Given the description of an element on the screen output the (x, y) to click on. 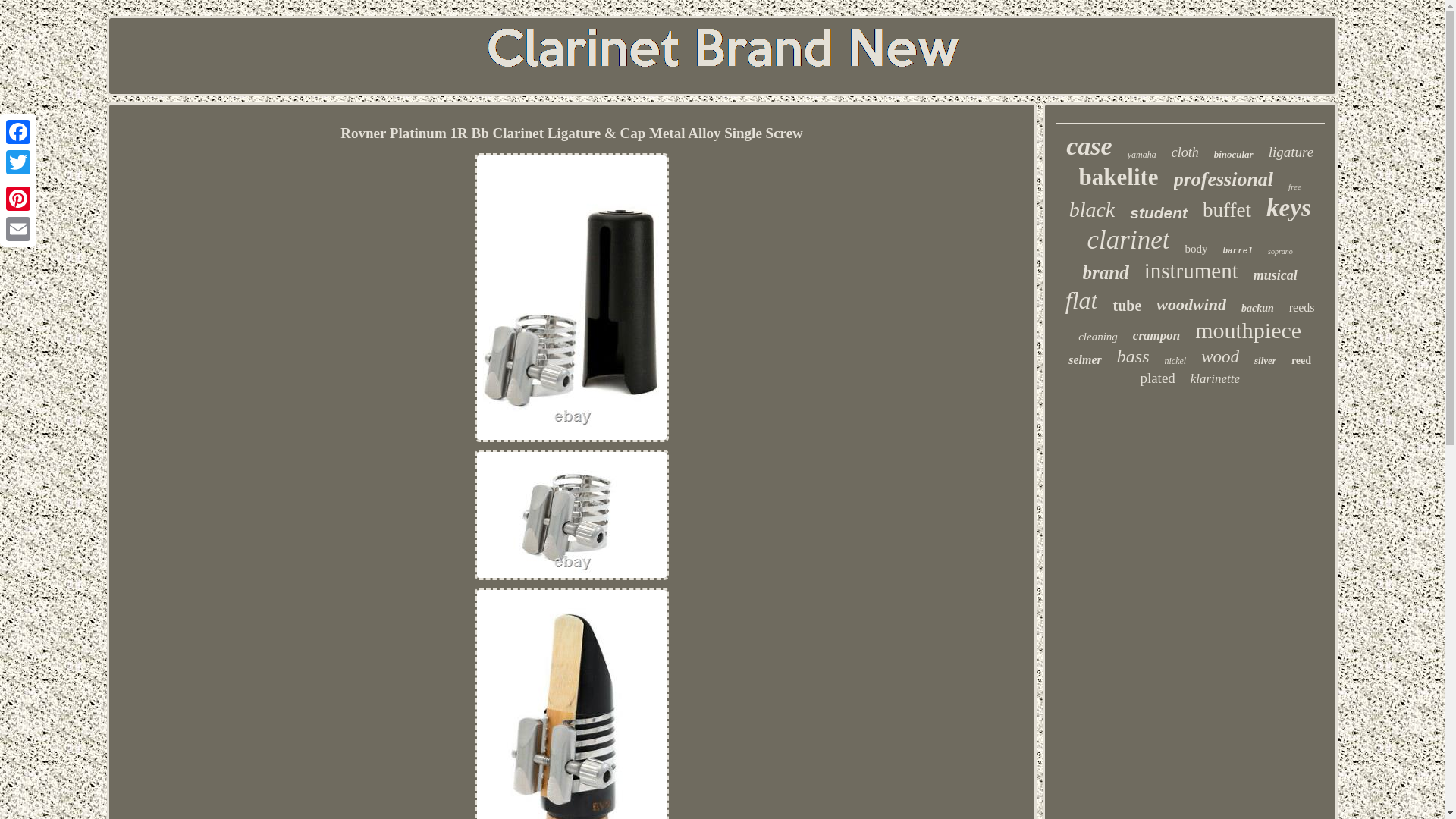
woodwind (1190, 304)
black (1091, 209)
clarinet (1128, 240)
professional (1222, 179)
reeds (1301, 307)
keys (1288, 207)
yamaha (1141, 154)
flat (1081, 300)
tube (1126, 305)
free (1294, 185)
